Given the description of an element on the screen output the (x, y) to click on. 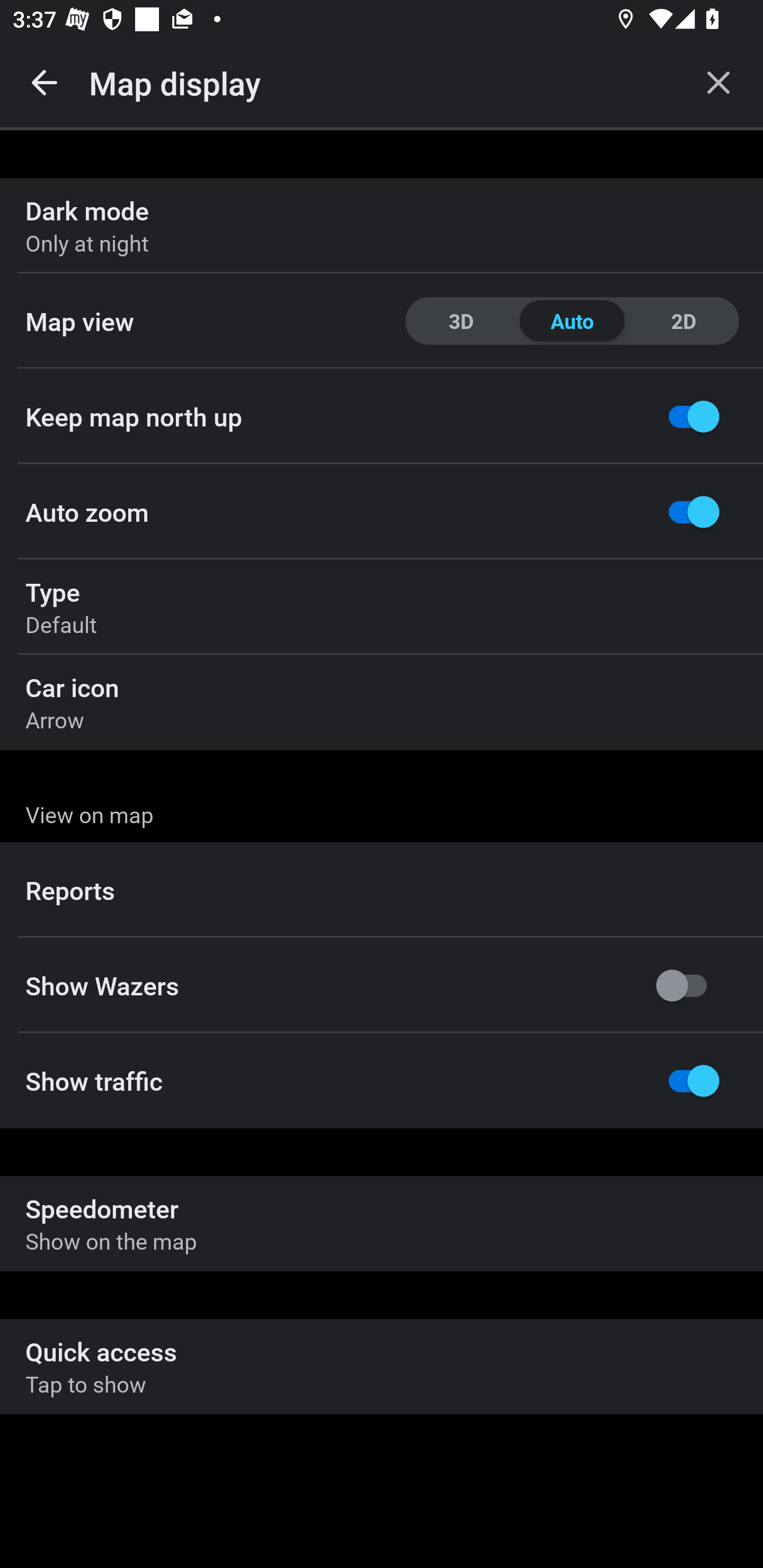
Dark mode Only at night (381, 225)
Keep map north up (381, 416)
Auto zoom (381, 511)
Type Default (381, 607)
Car icon Arrow (381, 702)
ACTION_CELL_ICON Shut off ACTION_CELL_TEXT (381, 891)
Show Wazers (381, 985)
Show traffic (381, 1080)
Speedometer Show on the map (381, 1223)
Quick access Tap to show (381, 1366)
